Given the description of an element on the screen output the (x, y) to click on. 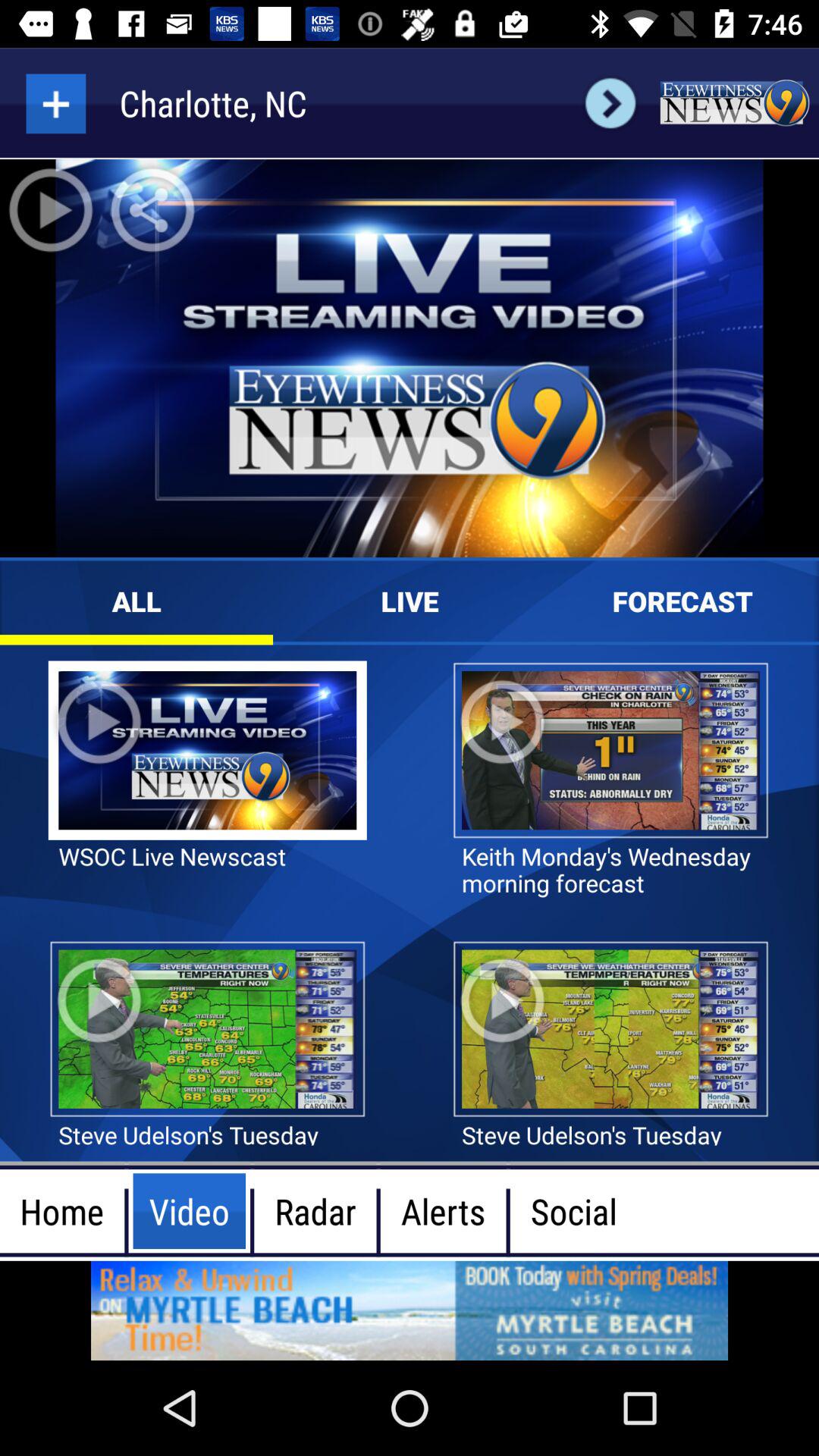
atvetisment page (409, 1310)
